Given the description of an element on the screen output the (x, y) to click on. 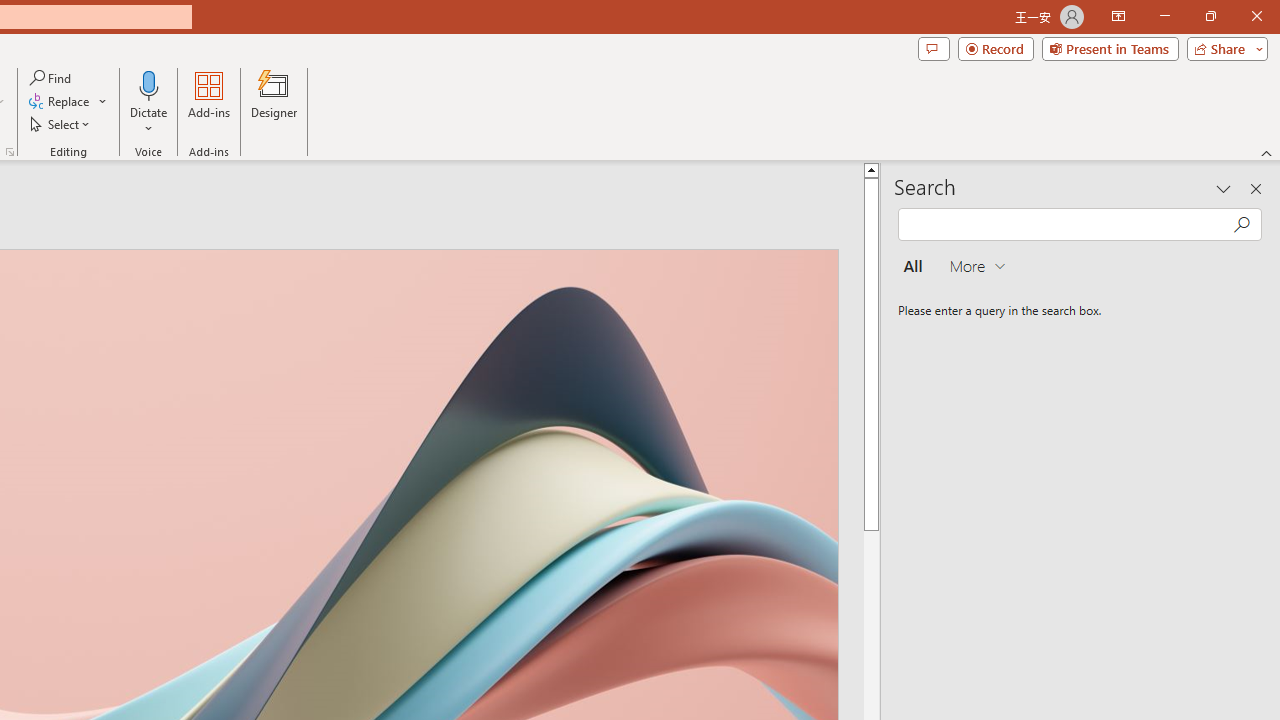
Replace... (68, 101)
Dictate (149, 102)
Select (61, 124)
Line up (871, 169)
